Given the description of an element on the screen output the (x, y) to click on. 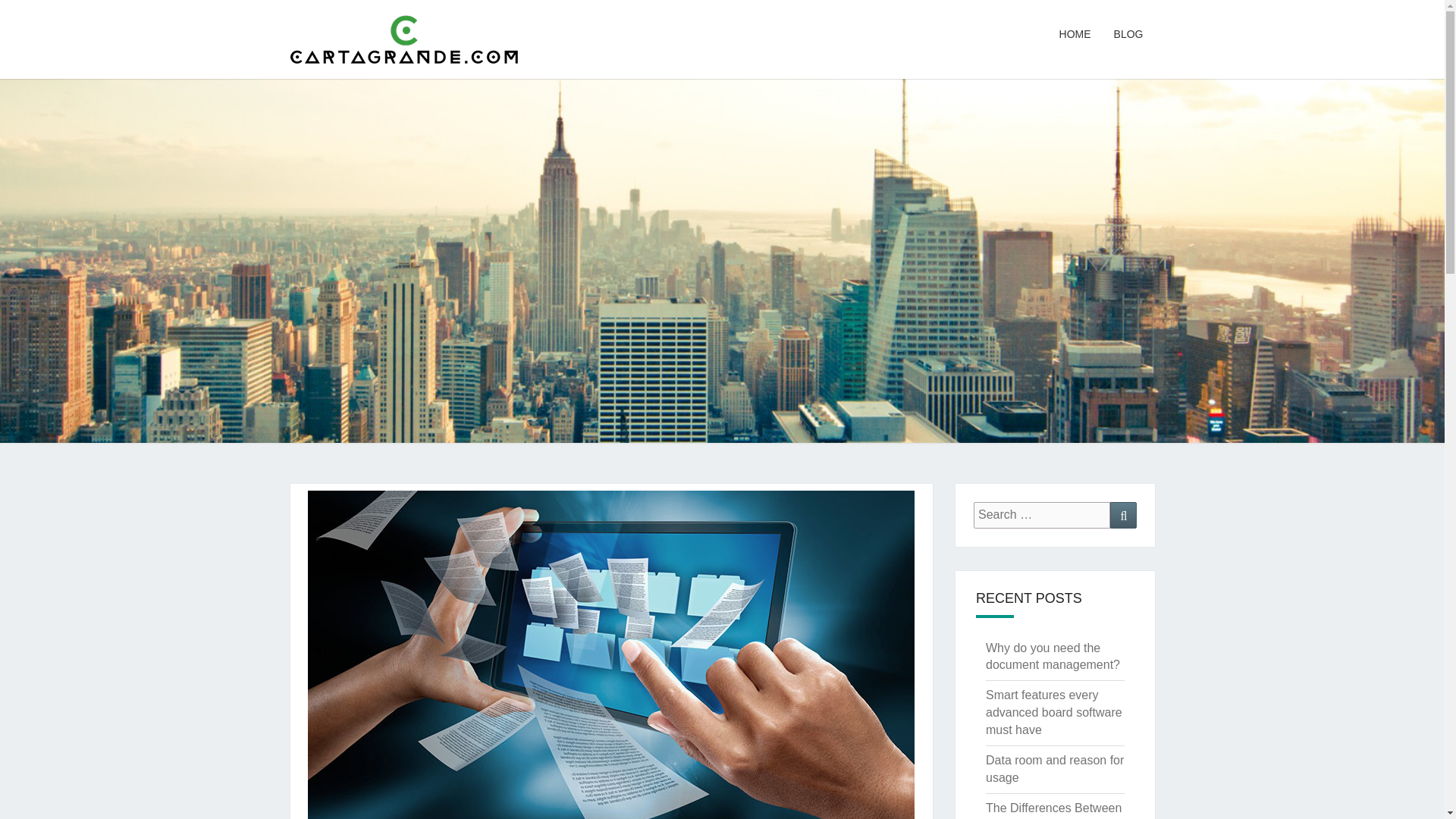
BLOG (1128, 34)
Smart features every advanced board software must have (1053, 712)
Search (1123, 515)
HOME (1075, 34)
Data room and reason for usage (1054, 768)
Why do you need the document management? (1052, 656)
Search for: (1041, 515)
The Differences Between Coaching and Mentoring (1053, 810)
